Given the description of an element on the screen output the (x, y) to click on. 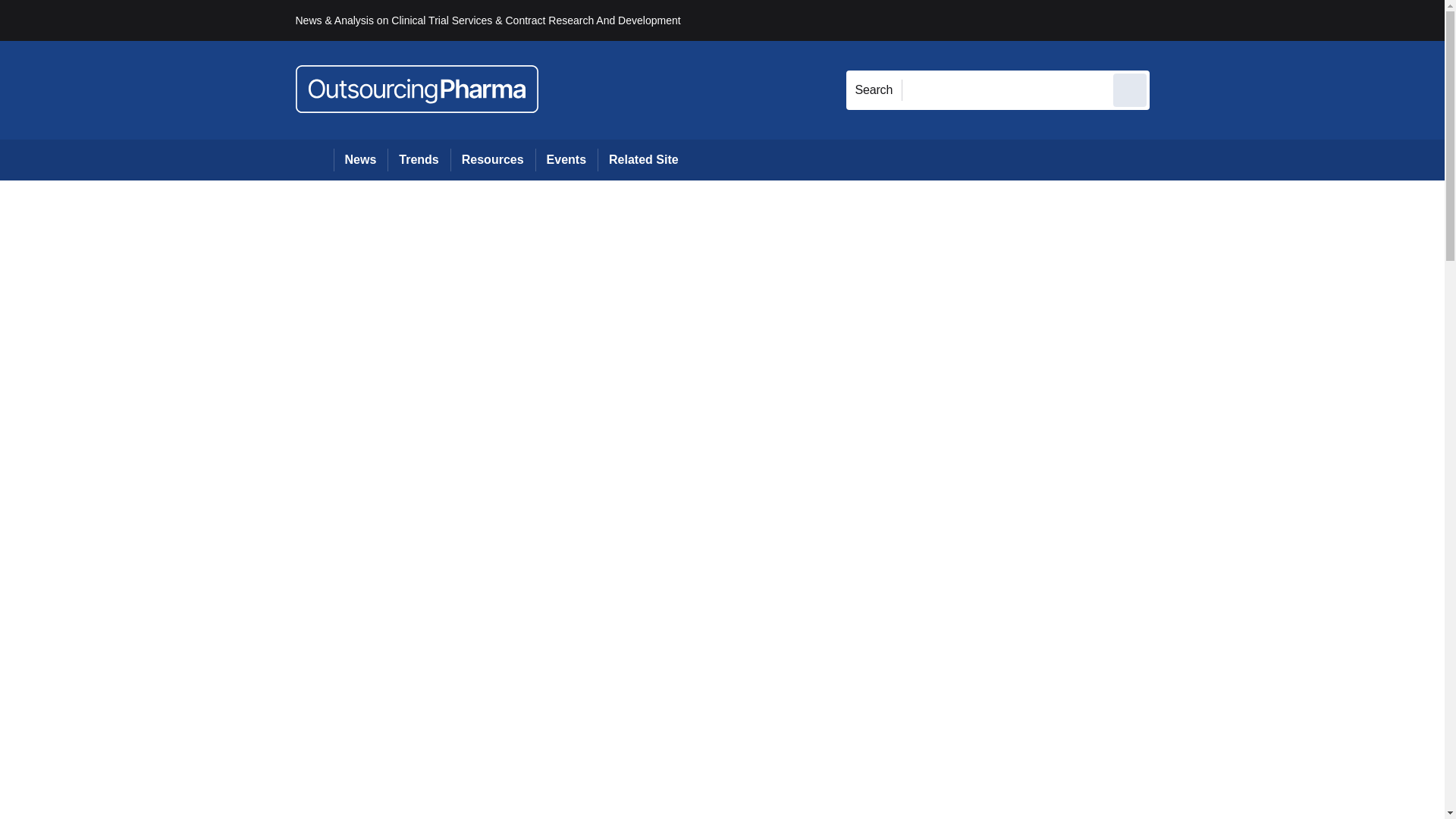
Trends (418, 159)
Send (1129, 90)
Sign out (1174, 20)
Home (314, 159)
Resources (492, 159)
OutsourcingPharma (416, 89)
My account (1256, 20)
Send (1129, 89)
REGISTER (1250, 20)
News (360, 159)
Sign in (1171, 20)
Home (313, 159)
